Given the description of an element on the screen output the (x, y) to click on. 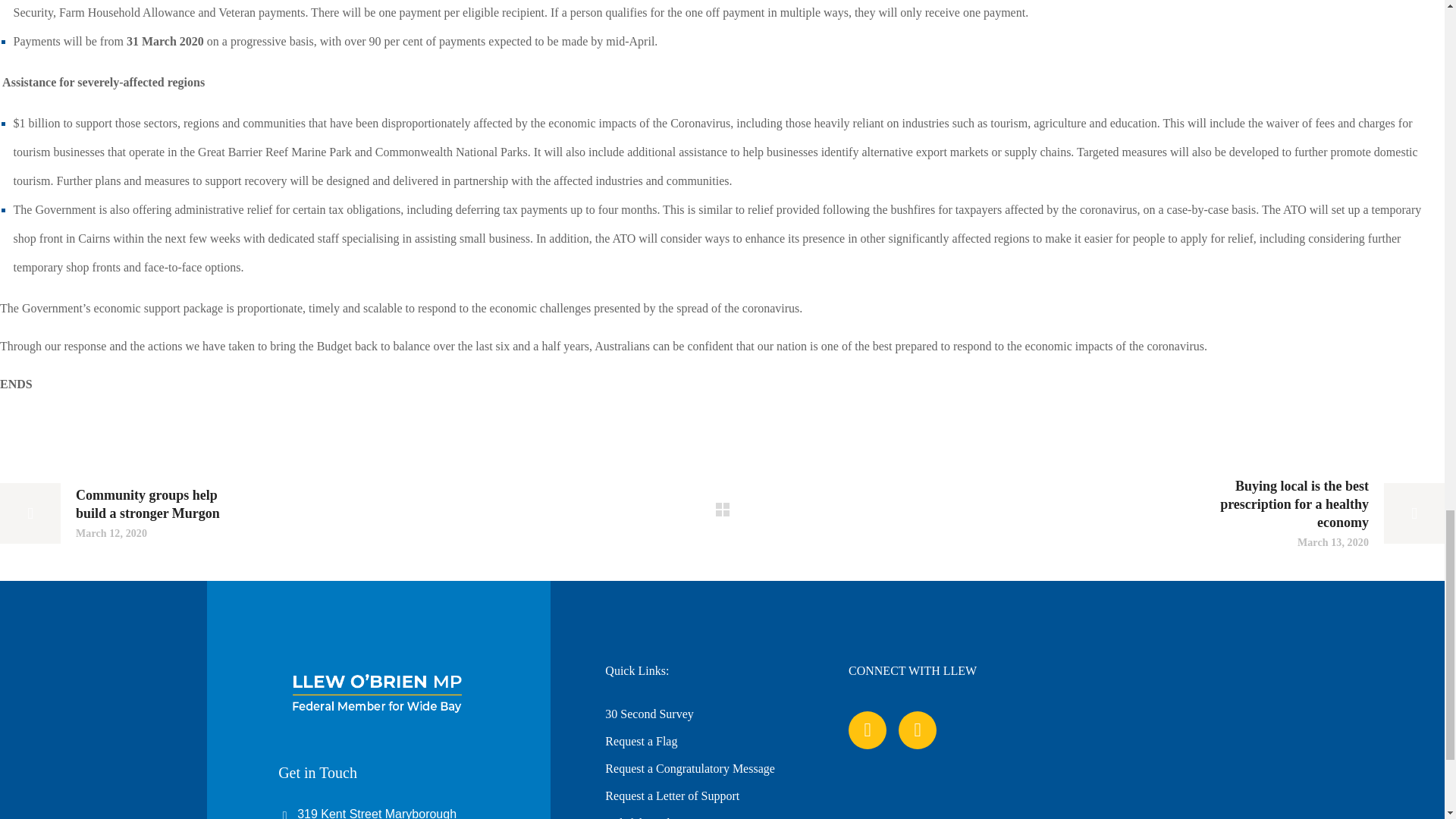
Community groups help build a stronger Murgon (117, 513)
